Given the description of an element on the screen output the (x, y) to click on. 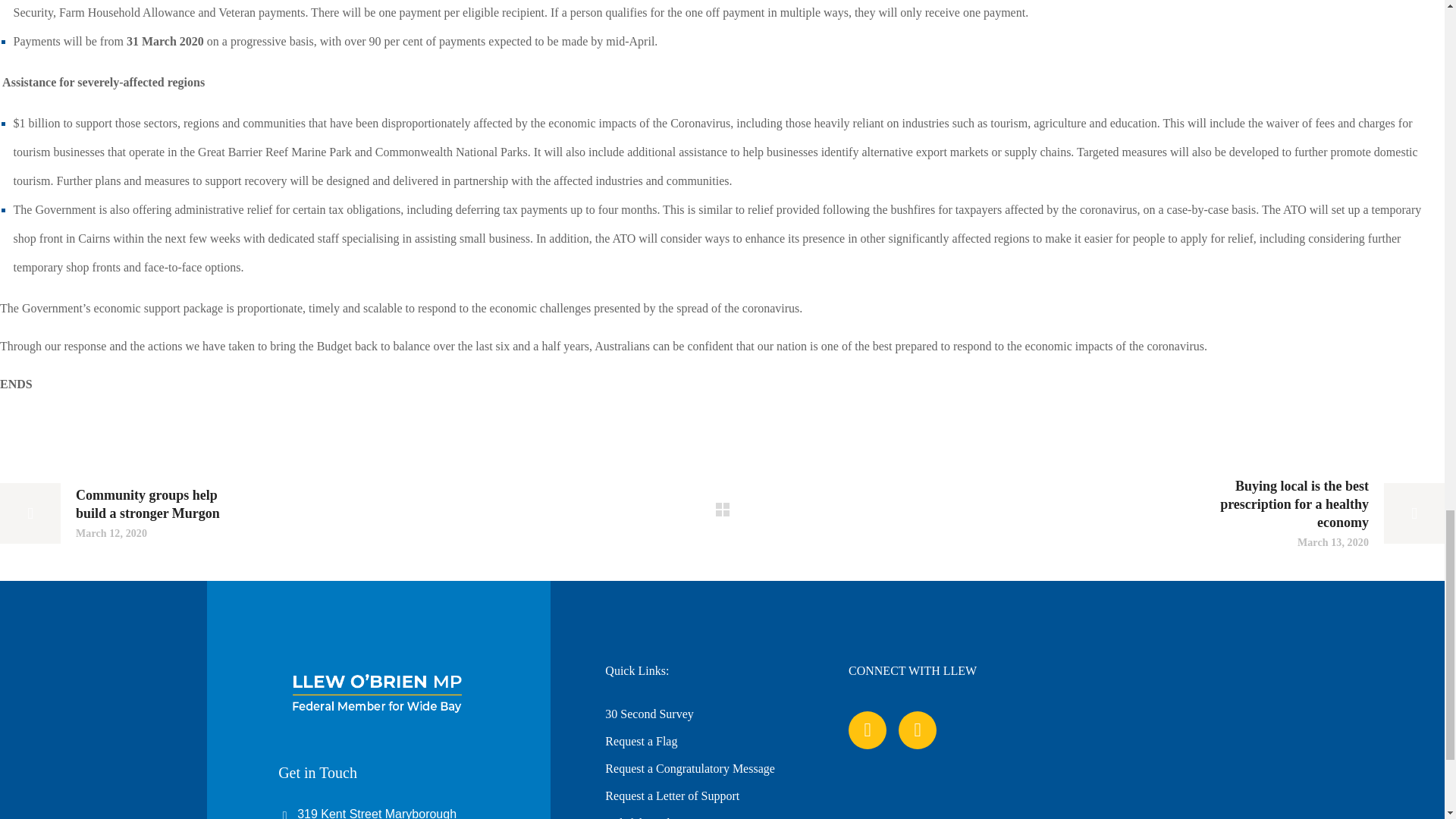
Community groups help build a stronger Murgon (117, 513)
